Given the description of an element on the screen output the (x, y) to click on. 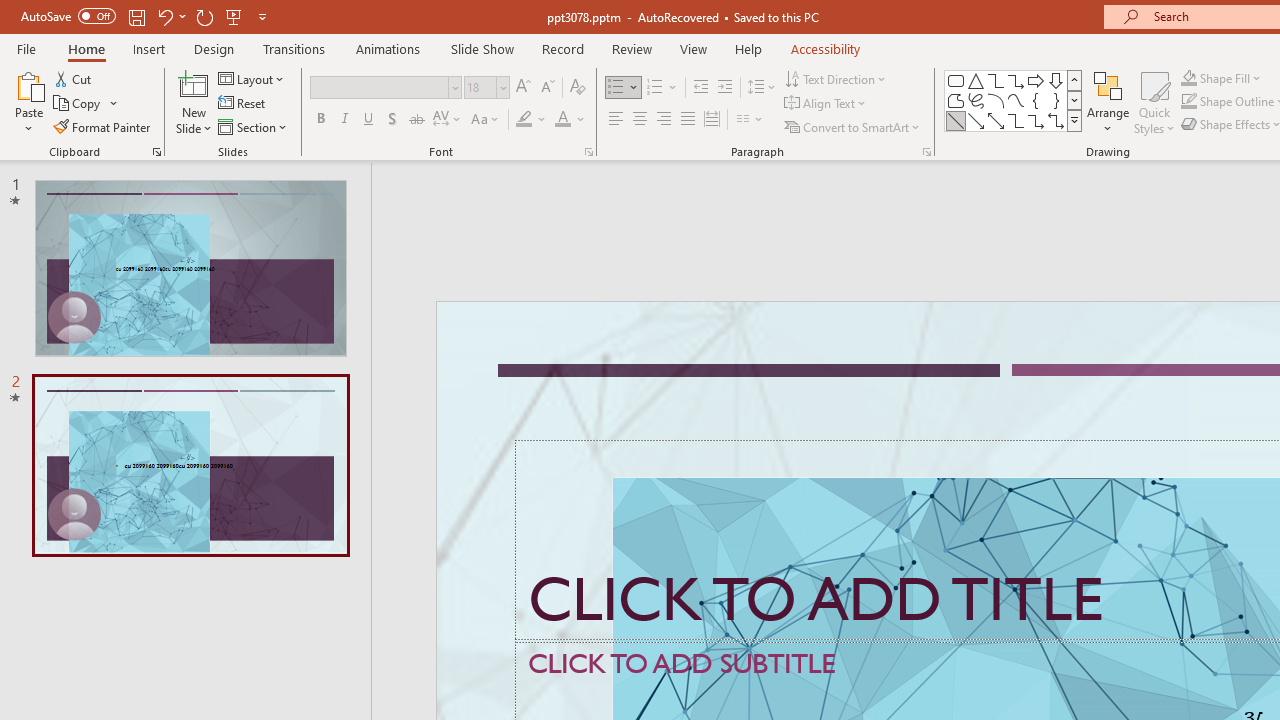
Connector: Elbow Double-Arrow (1055, 120)
